Given the description of an element on the screen output the (x, y) to click on. 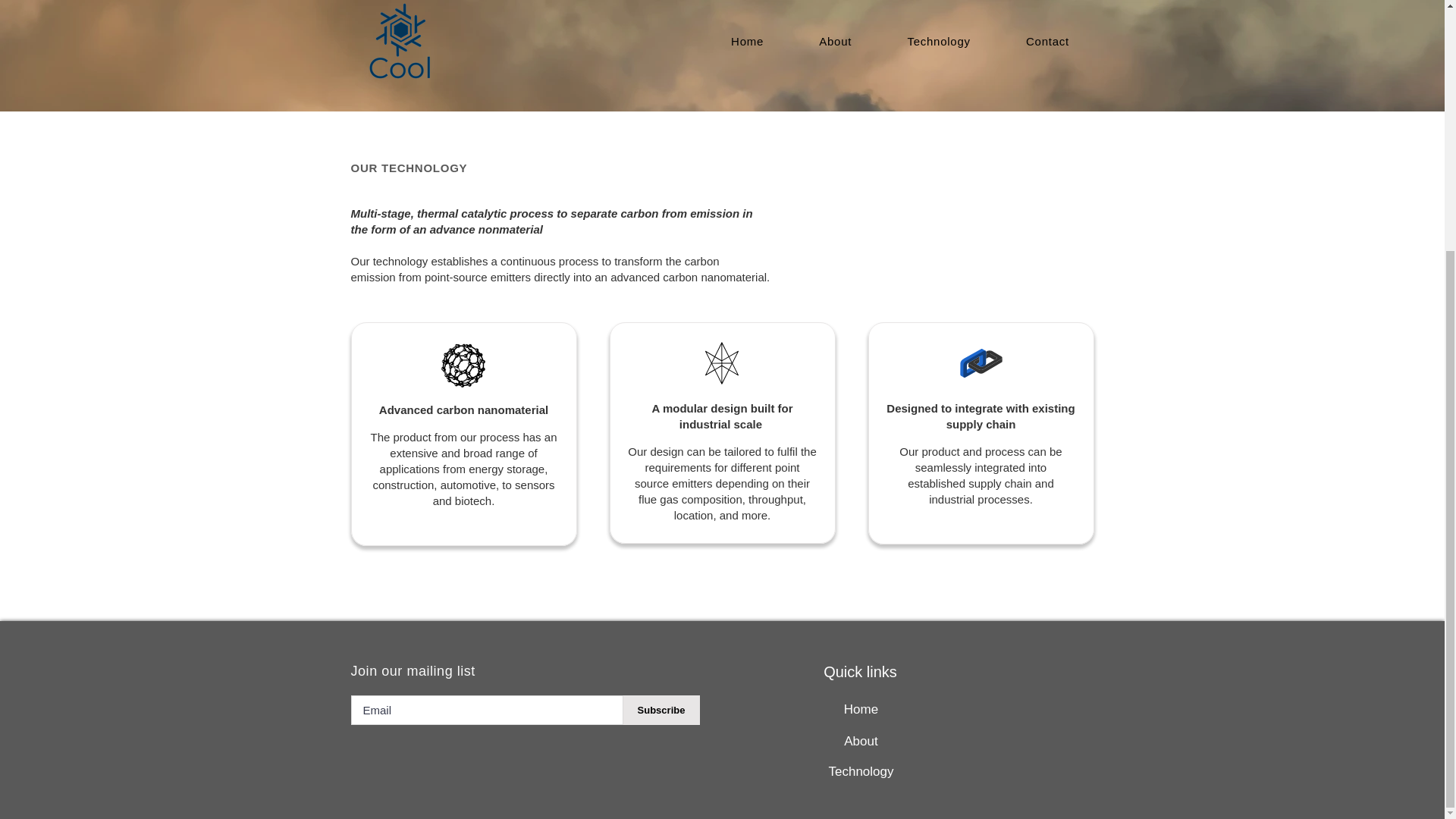
Technology (860, 771)
Subscribe (661, 709)
Home (860, 709)
About (860, 741)
